Given the description of an element on the screen output the (x, y) to click on. 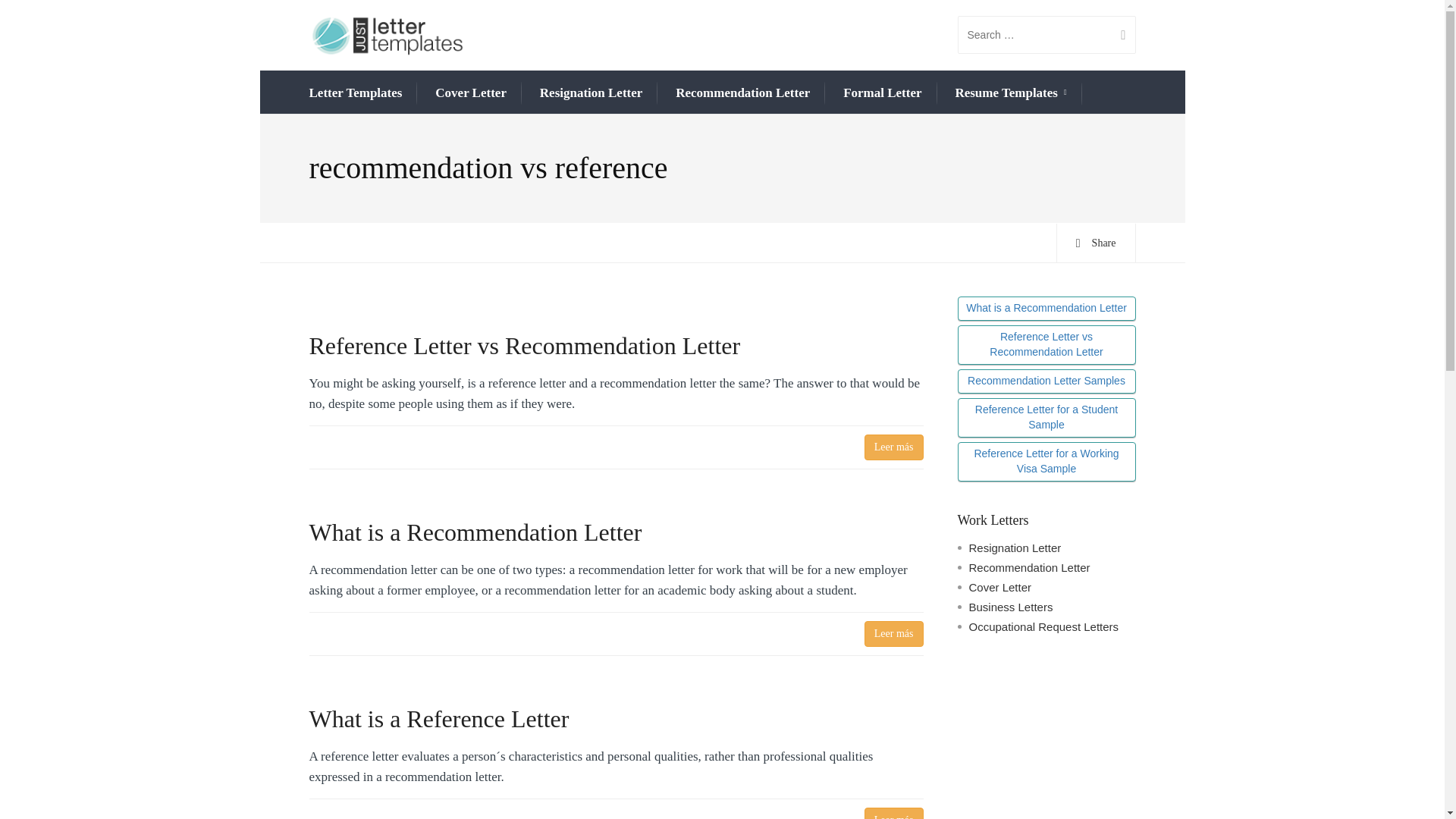
Cover Letter (470, 92)
Search (1117, 34)
Resume Templates (1010, 93)
What is a Recommendation Letter (1046, 308)
Resignation Letter (591, 92)
Search (1117, 34)
Recommendation Letter Samples (1046, 381)
Formal Letter (882, 92)
What is a Reference Letter (615, 718)
Search (1117, 34)
